Given the description of an element on the screen output the (x, y) to click on. 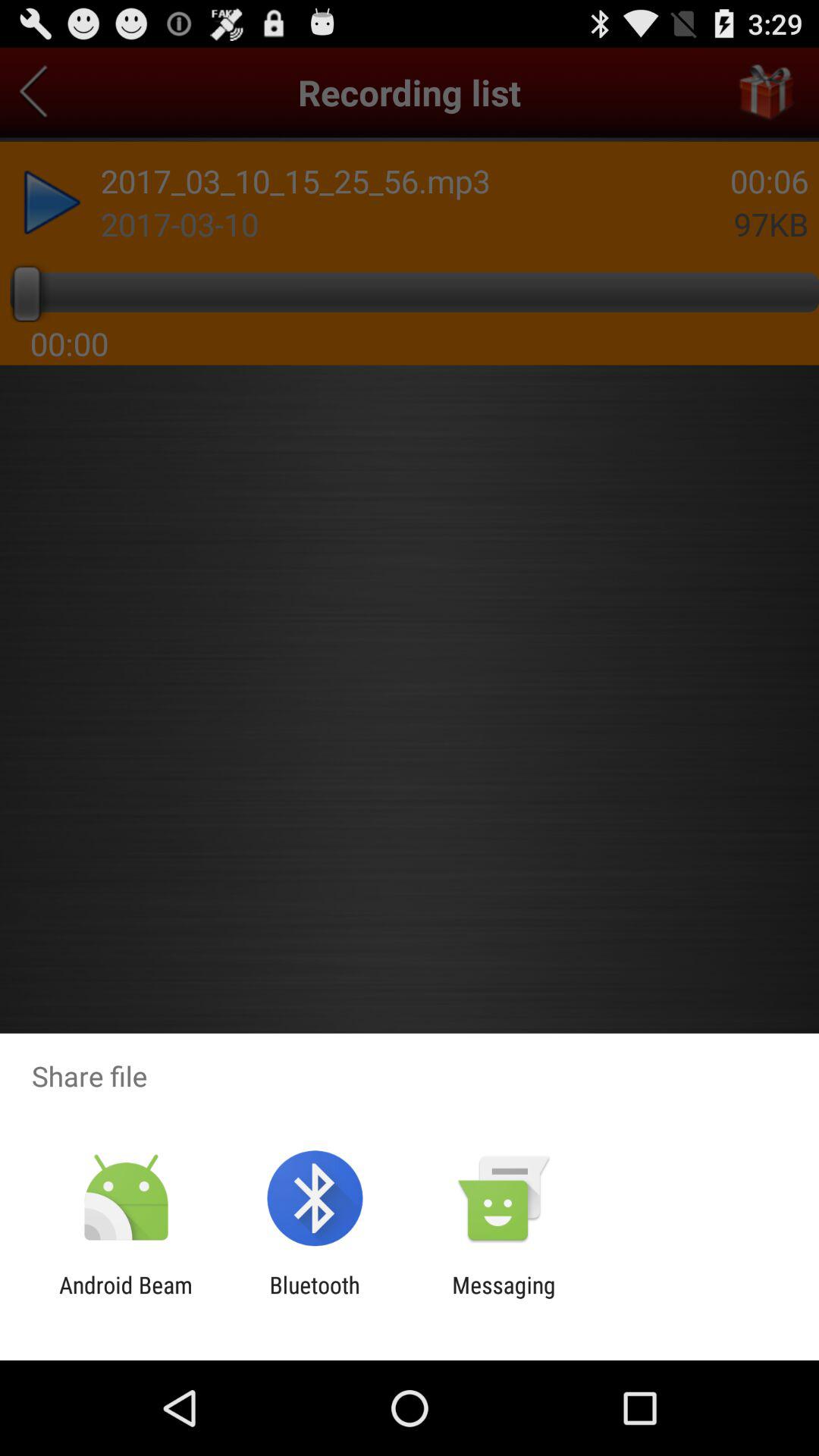
jump to the messaging icon (503, 1298)
